Given the description of an element on the screen output the (x, y) to click on. 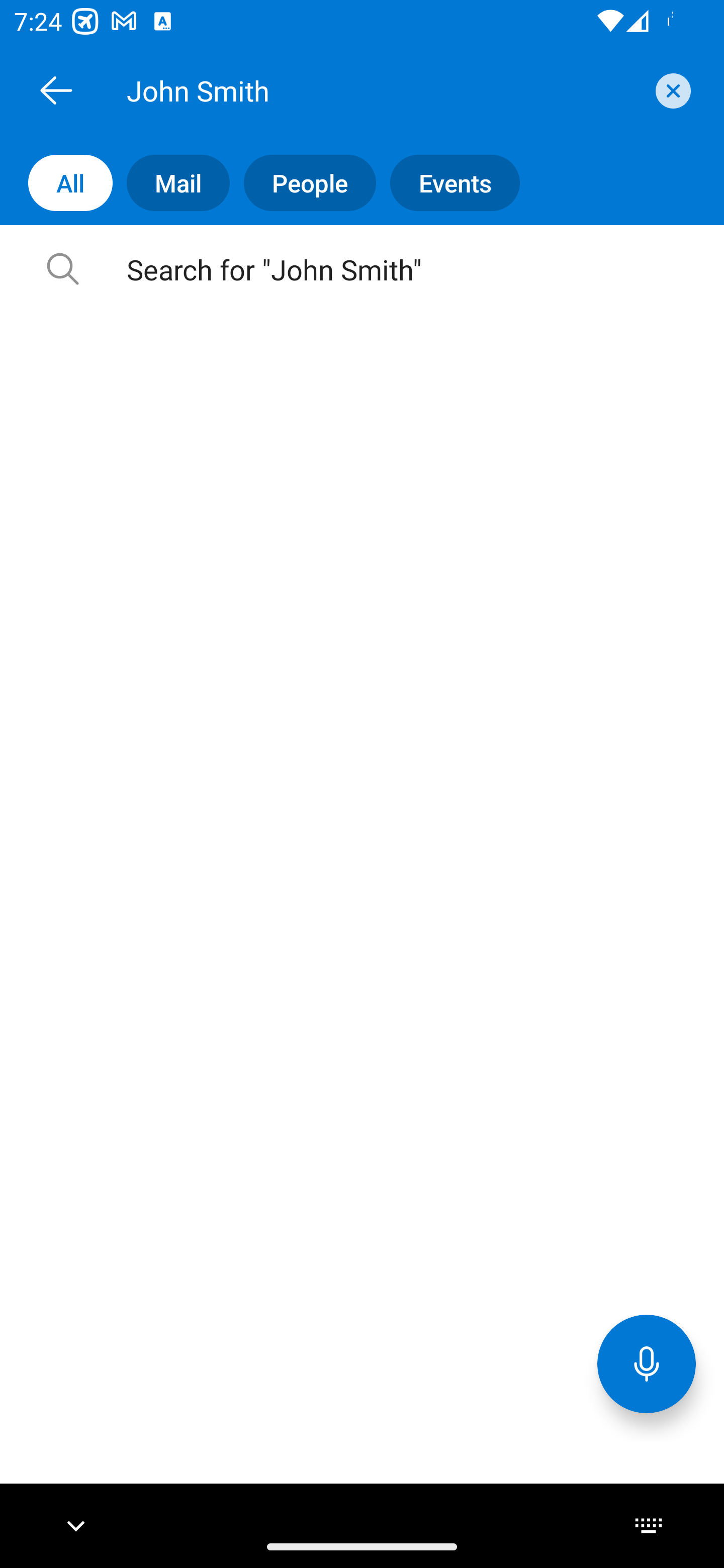
Back (55, 89)
John Smith (384, 89)
clear search (670, 90)
Mail (170, 183)
People (302, 183)
Events (447, 183)
Voice Assistant (646, 1362)
